Given the description of an element on the screen output the (x, y) to click on. 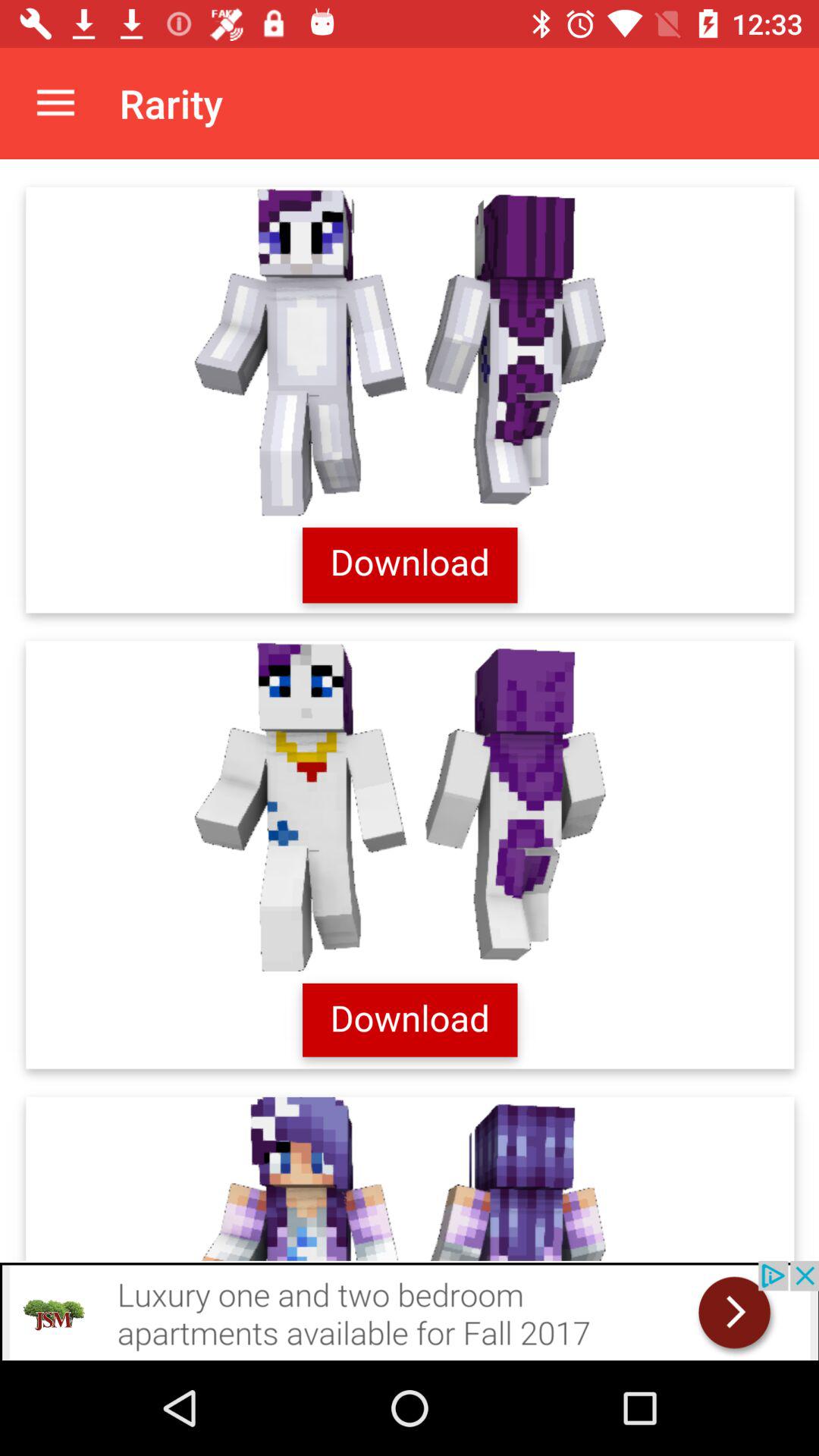
advertisement (409, 1310)
